Given the description of an element on the screen output the (x, y) to click on. 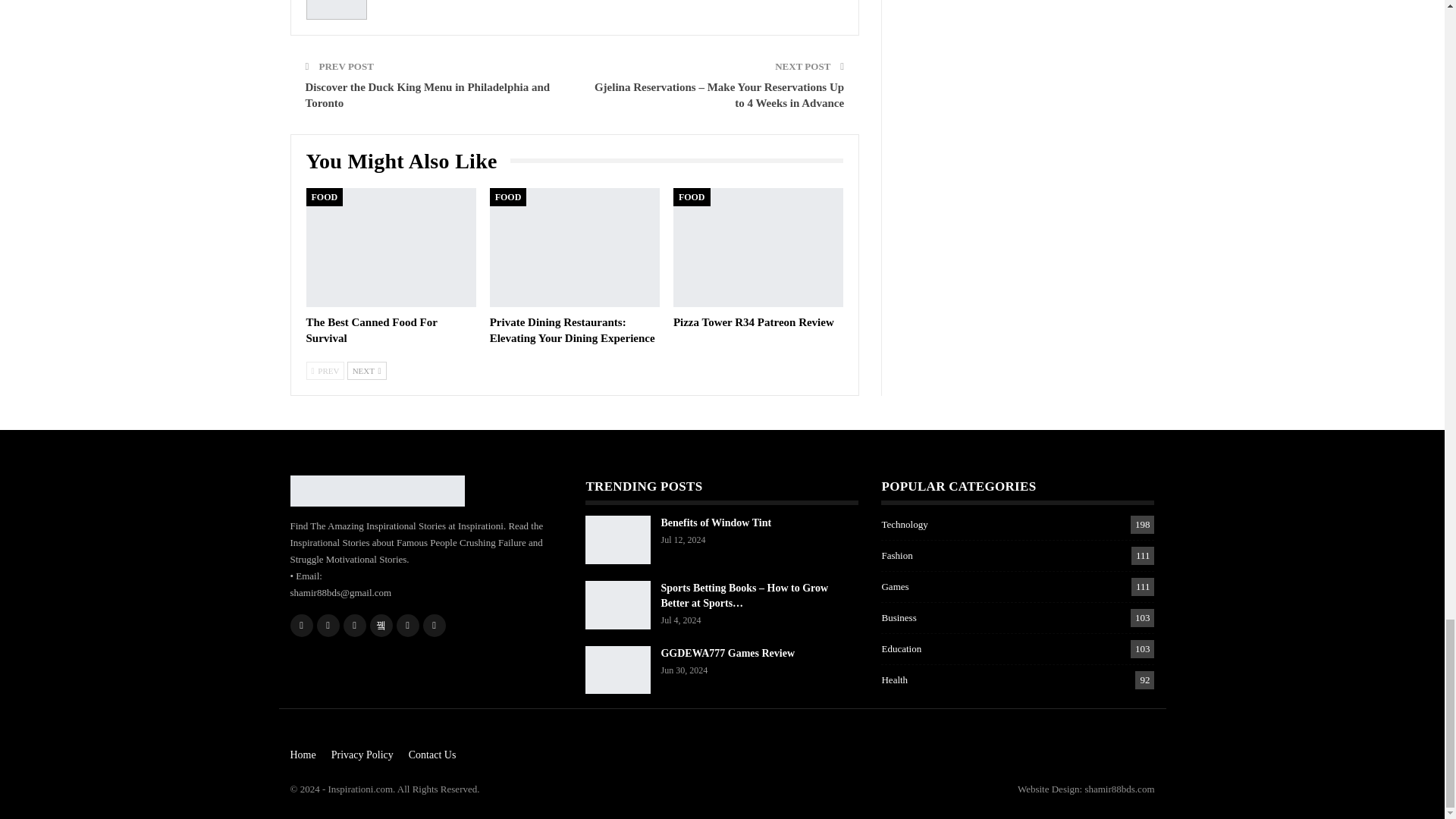
Pizza Tower R34 Patreon Review (753, 322)
Private Dining Restaurants: Elevating Your Dining Experience (574, 247)
Private Dining Restaurants: Elevating Your Dining Experience (572, 329)
Next (367, 370)
The Best Canned Food For Survival (371, 329)
Previous (325, 370)
The Best Canned Food For Survival (390, 247)
Pizza Tower R34 Patreon Review (757, 247)
